Given the description of an element on the screen output the (x, y) to click on. 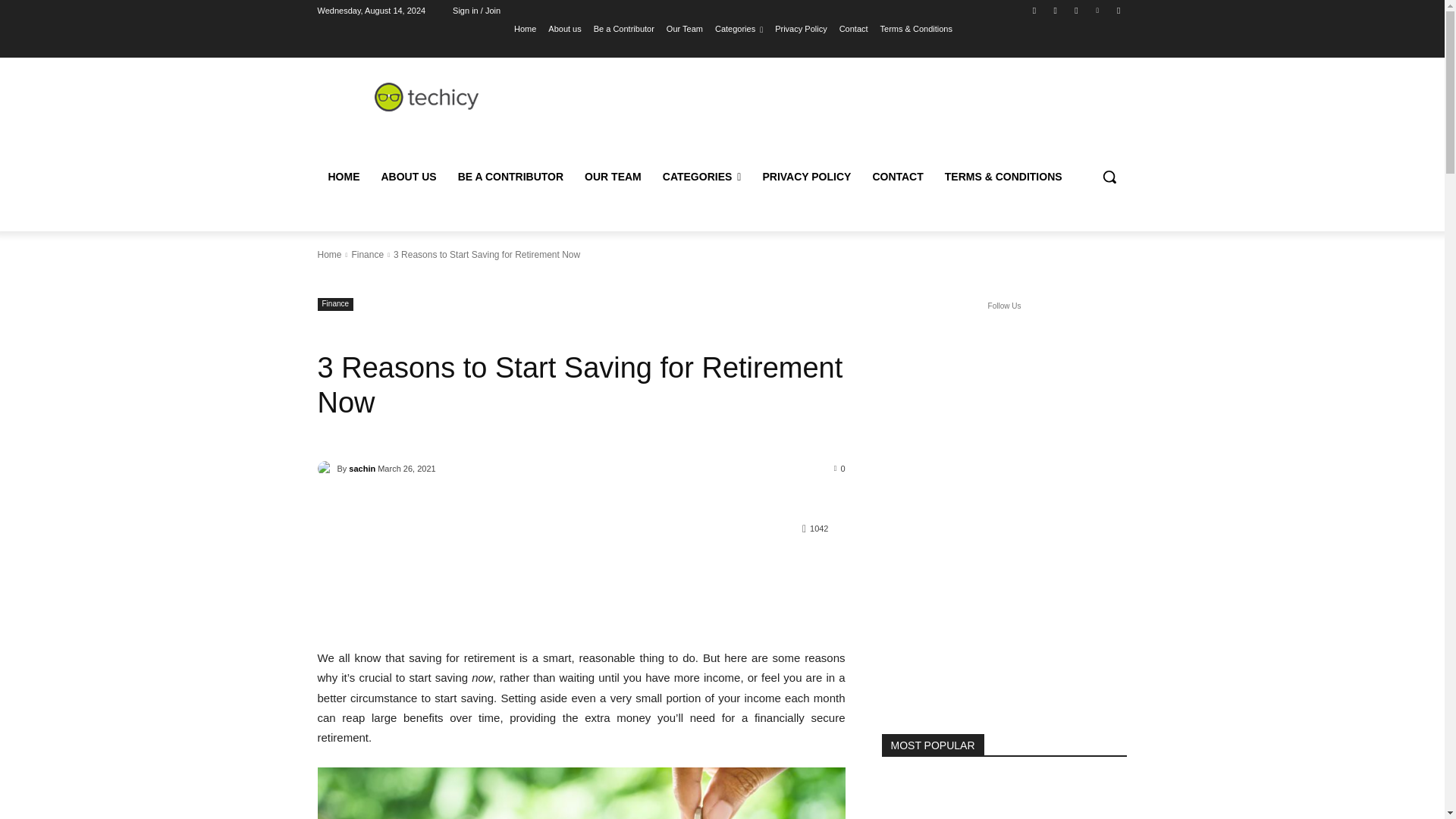
Privacy Policy (800, 28)
Contact (853, 28)
Vimeo (1097, 9)
Instagram (1055, 9)
Home (524, 28)
Our Team (684, 28)
Categories (738, 28)
sachin (326, 468)
View all posts in Finance (367, 254)
Youtube (1117, 9)
